Given the description of an element on the screen output the (x, y) to click on. 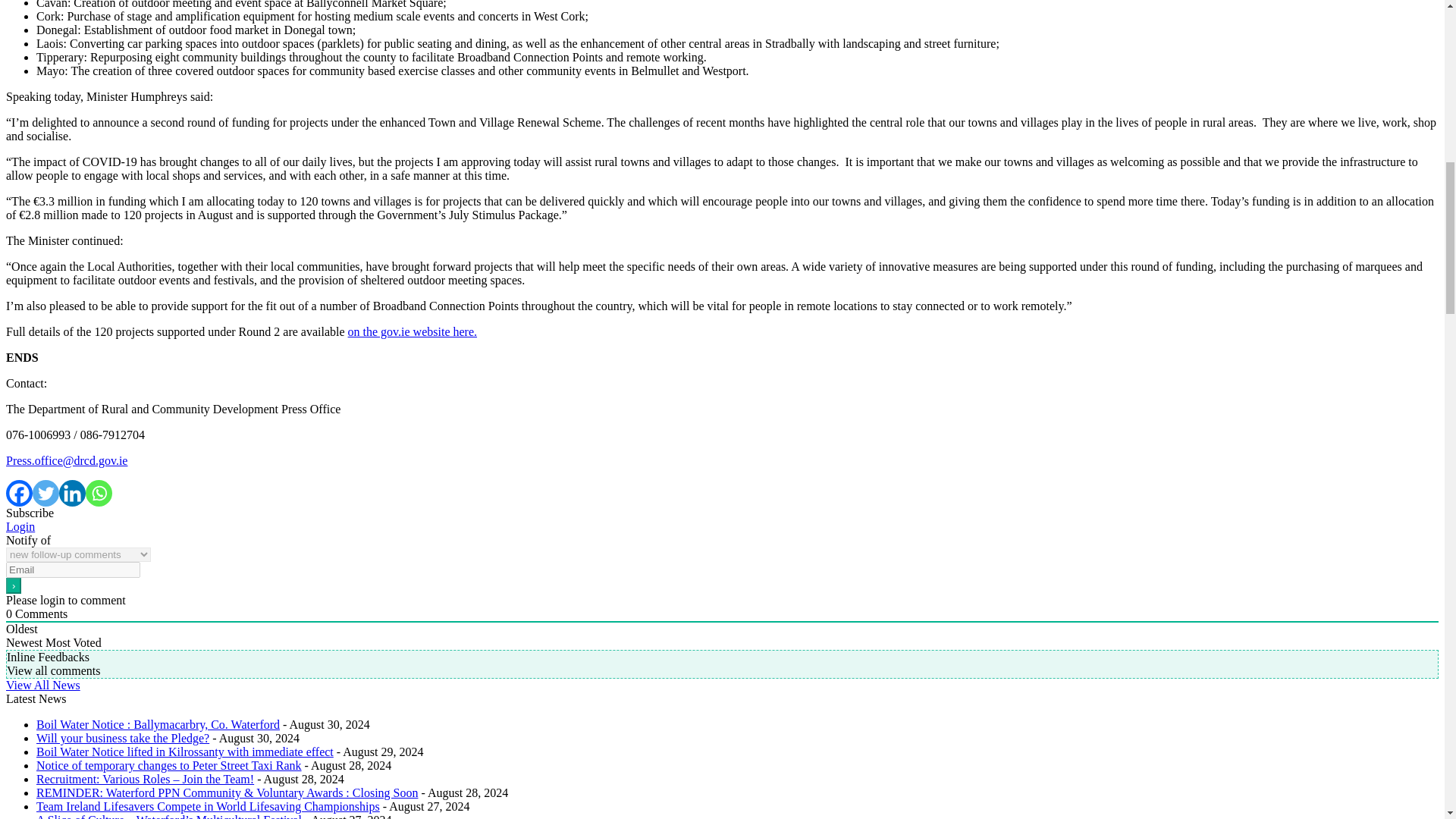
Facebook (18, 492)
Twitter (45, 492)
Whatsapp (98, 492)
Login (19, 526)
View All News (42, 684)
Linkedin (72, 492)
on the gov.ie website here. (412, 331)
Boil Water Notice : Ballymacarbry, Co. Waterford (157, 724)
